Given the description of an element on the screen output the (x, y) to click on. 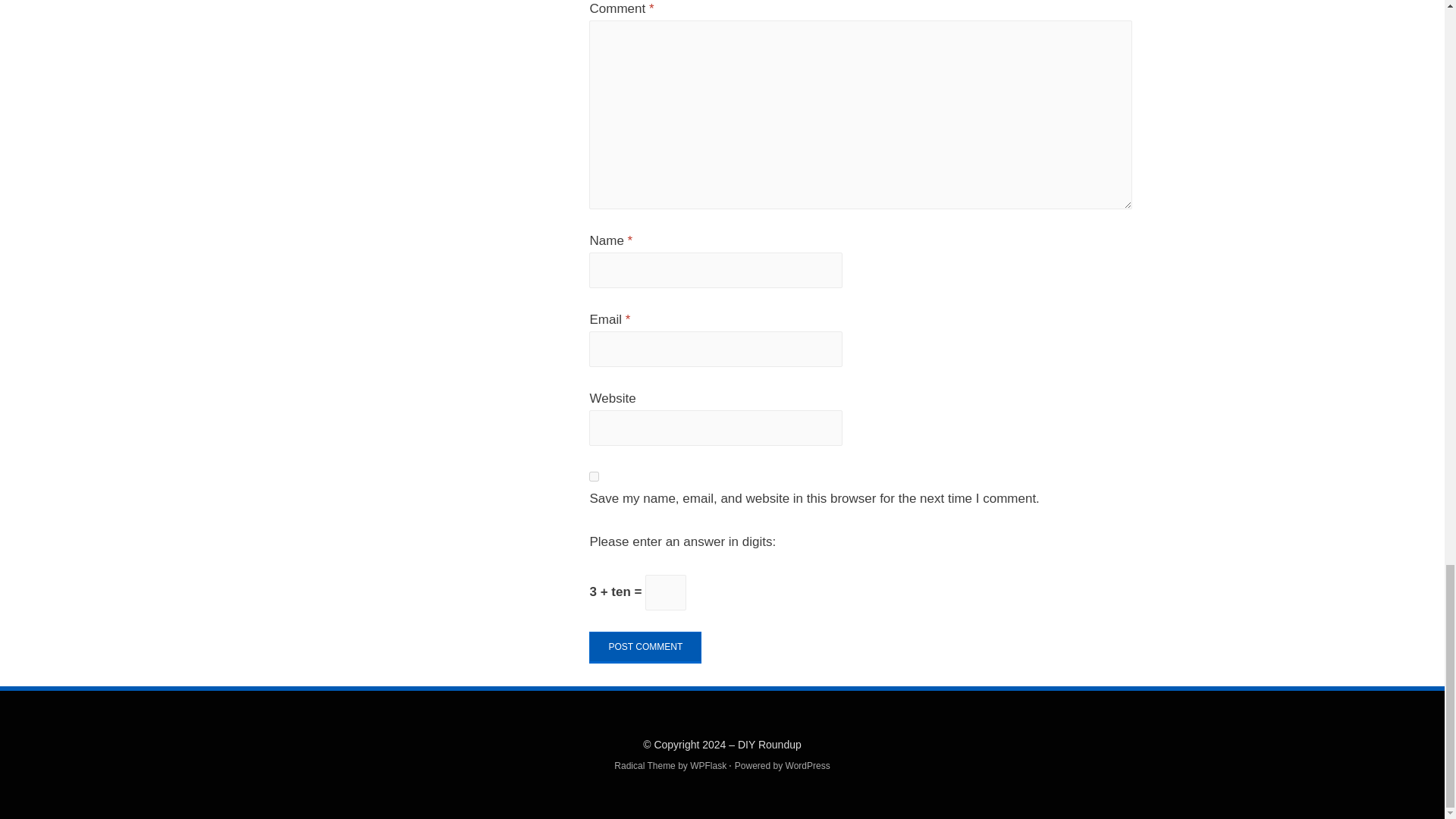
yes (593, 476)
Post Comment (645, 647)
WordPress (808, 765)
Post Comment (645, 647)
WPFlask (706, 765)
